Given the description of an element on the screen output the (x, y) to click on. 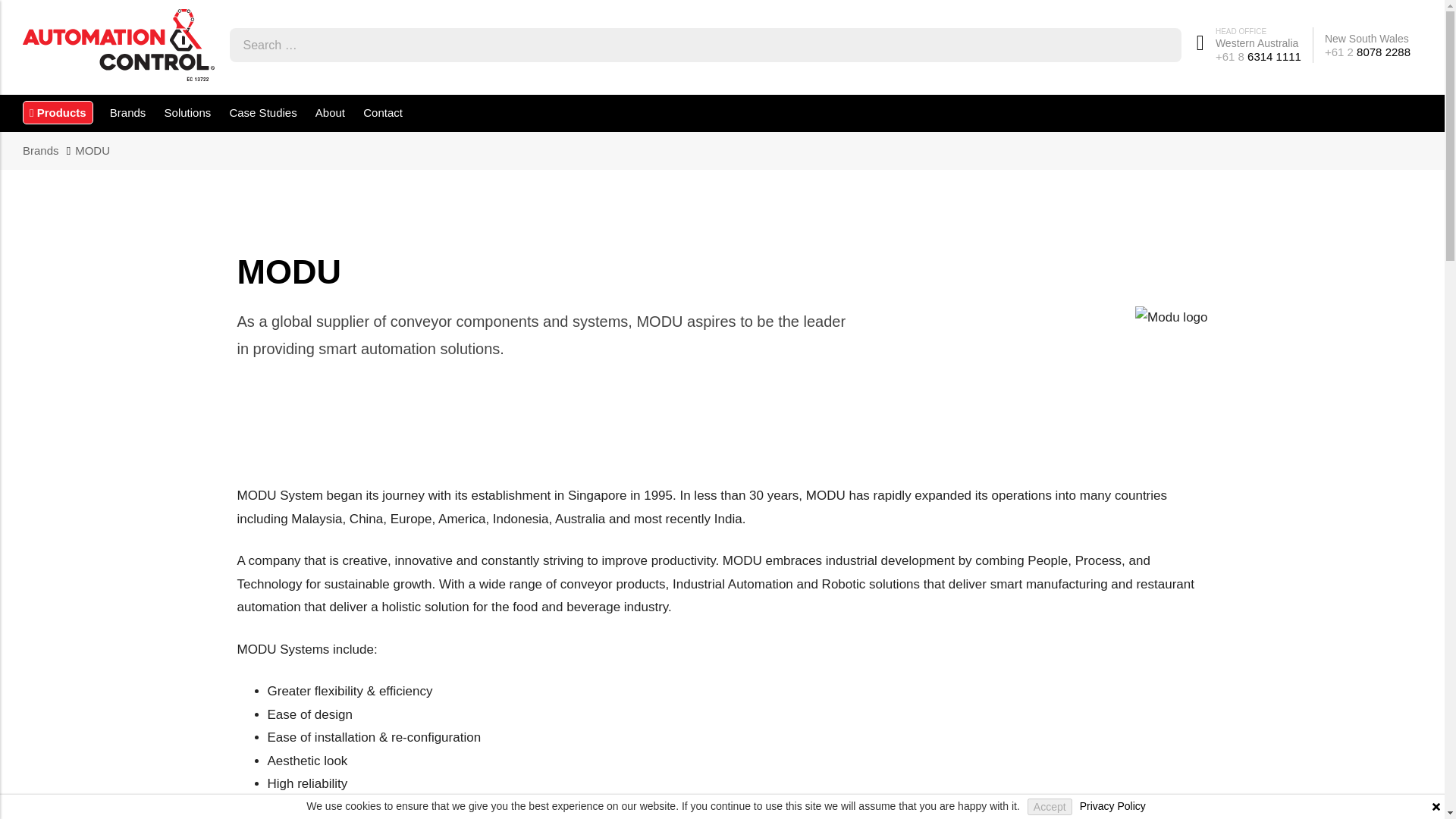
Show Main Menu (58, 112)
Search (1164, 44)
Search (1164, 44)
Search (1164, 44)
Solutions (187, 113)
Accept (1049, 806)
Privacy Policy (1112, 806)
Brands (127, 113)
Case Studies (262, 113)
Products (58, 112)
Contact (382, 113)
About (330, 113)
